Given the description of an element on the screen output the (x, y) to click on. 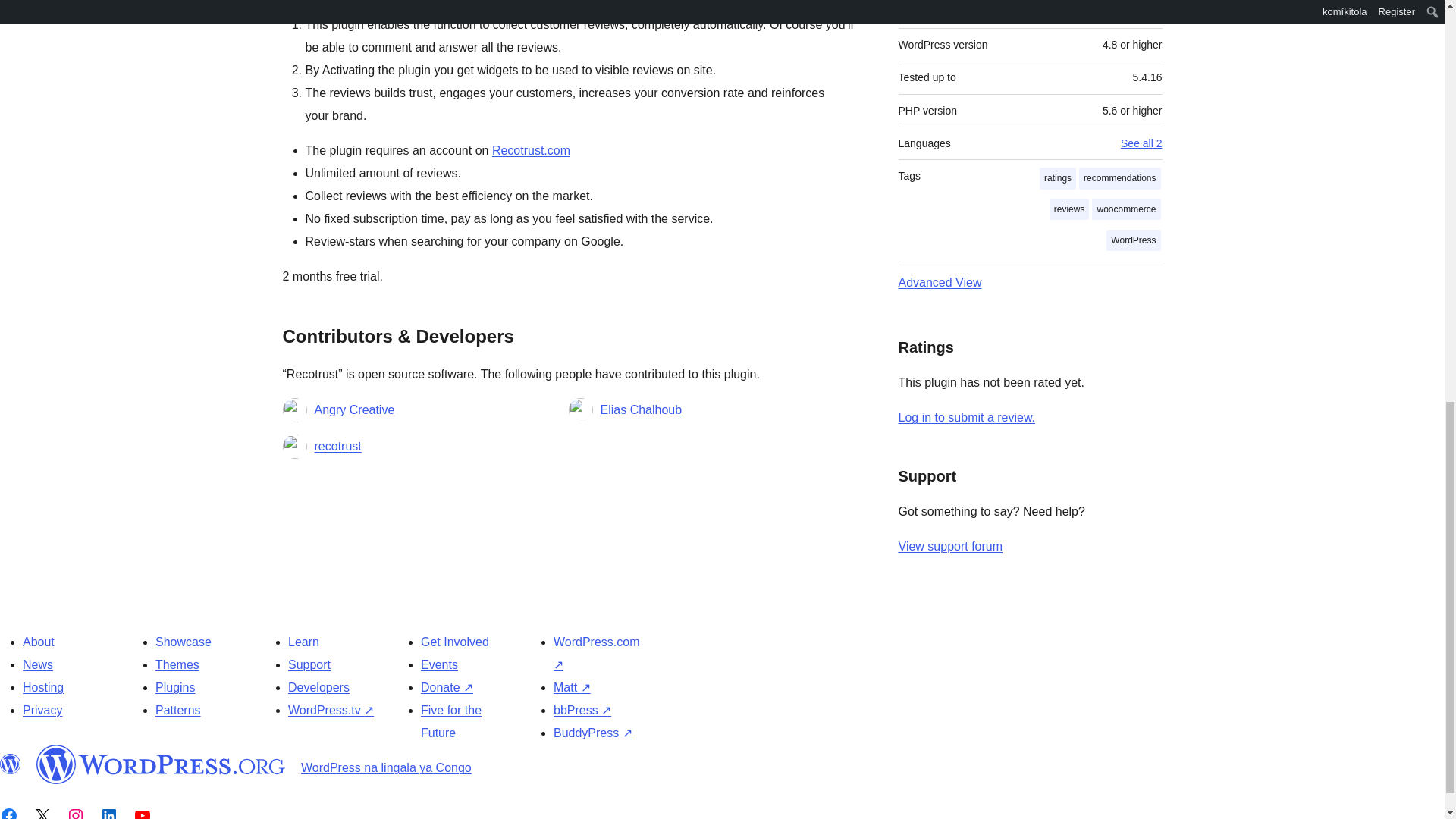
Angry Creative (354, 409)
Elias Chalhoub (640, 409)
Recotrust.com (531, 150)
recotrust (337, 445)
WordPress.org (10, 763)
Recotrust.com (531, 150)
Log in to WordPress.org (966, 417)
WordPress.org (160, 763)
